Given the description of an element on the screen output the (x, y) to click on. 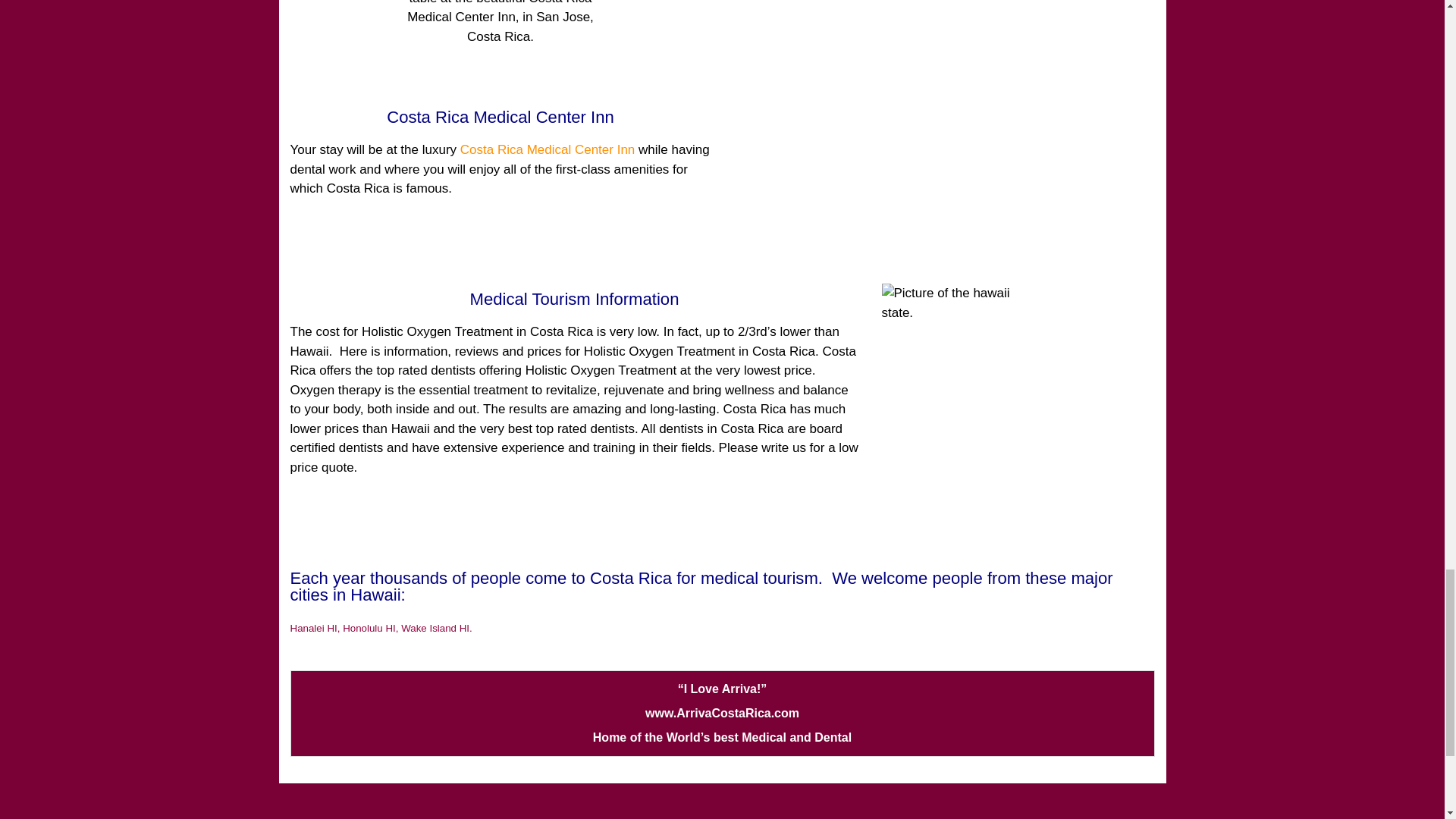
restaurant-and-pool (500, 41)
Costa Rica Medical Center Inn (547, 149)
junior-suite-bedroom (944, 94)
